Given the description of an element on the screen output the (x, y) to click on. 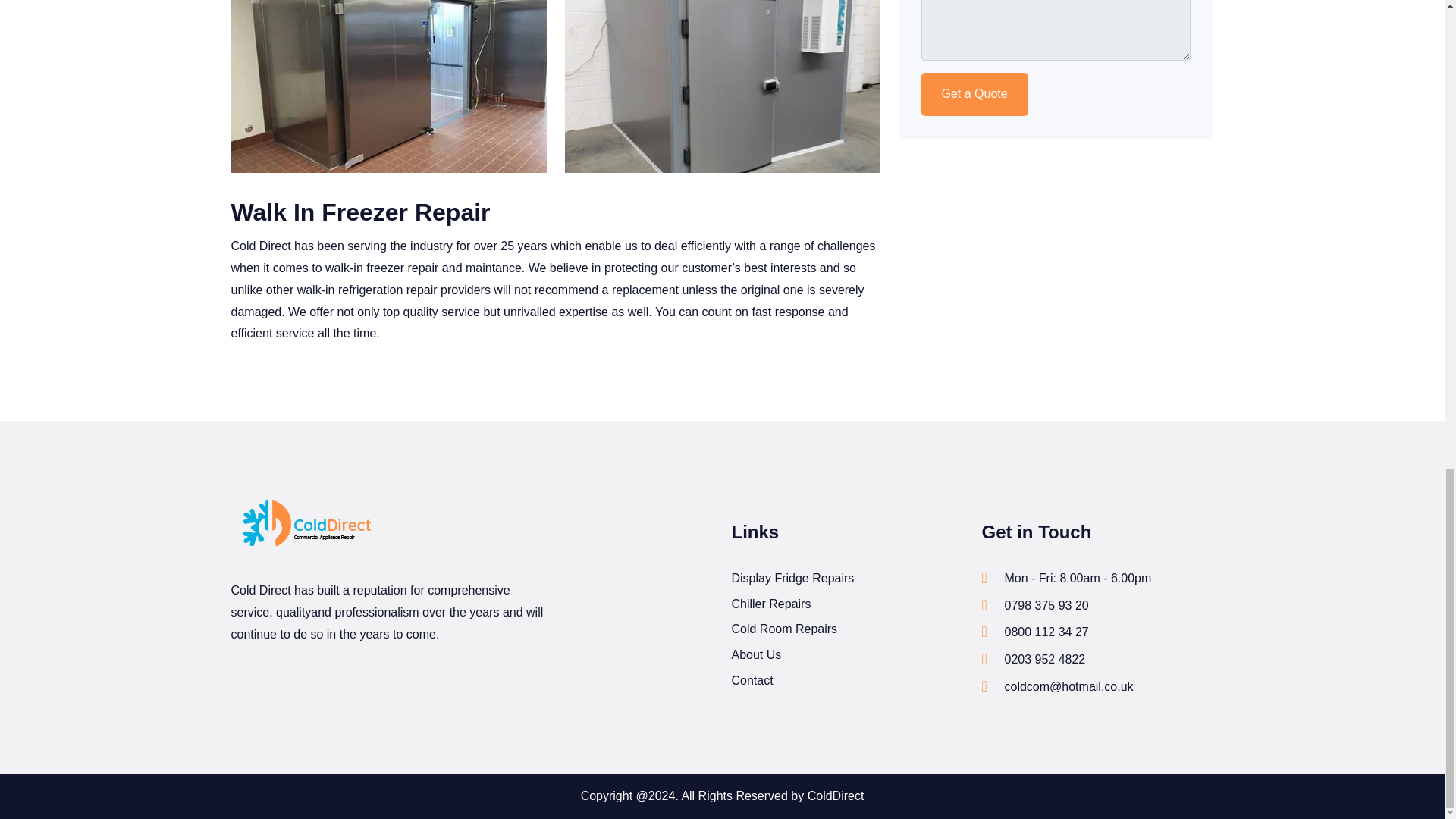
Cold Direct Logo (307, 526)
Walk in Freezer Repair in London (721, 86)
Cold Diract Walk in Freezer Repair (388, 86)
